Given the description of an element on the screen output the (x, y) to click on. 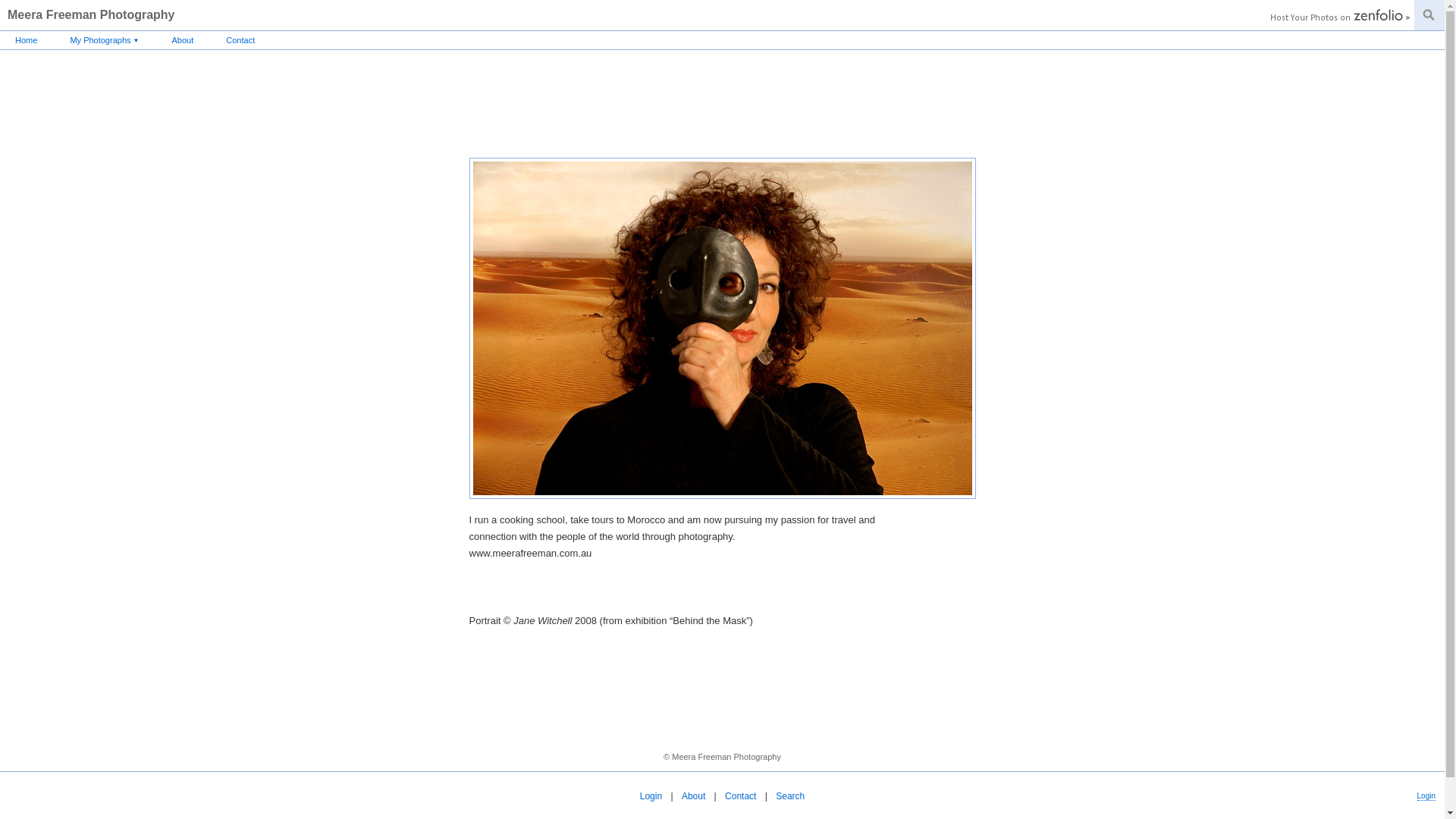
Home Element type: text (26, 39)
About Element type: text (694, 796)
Login Element type: text (1426, 795)
Host Your Photos on Zenfolio Element type: hover (1338, 16)
Login Element type: text (652, 796)
About Element type: text (182, 39)
Meera Freeman Photography Element type: text (91, 14)
Contact Element type: text (741, 796)
Contact Element type: text (239, 39)
Search Element type: text (789, 796)
